Given the description of an element on the screen output the (x, y) to click on. 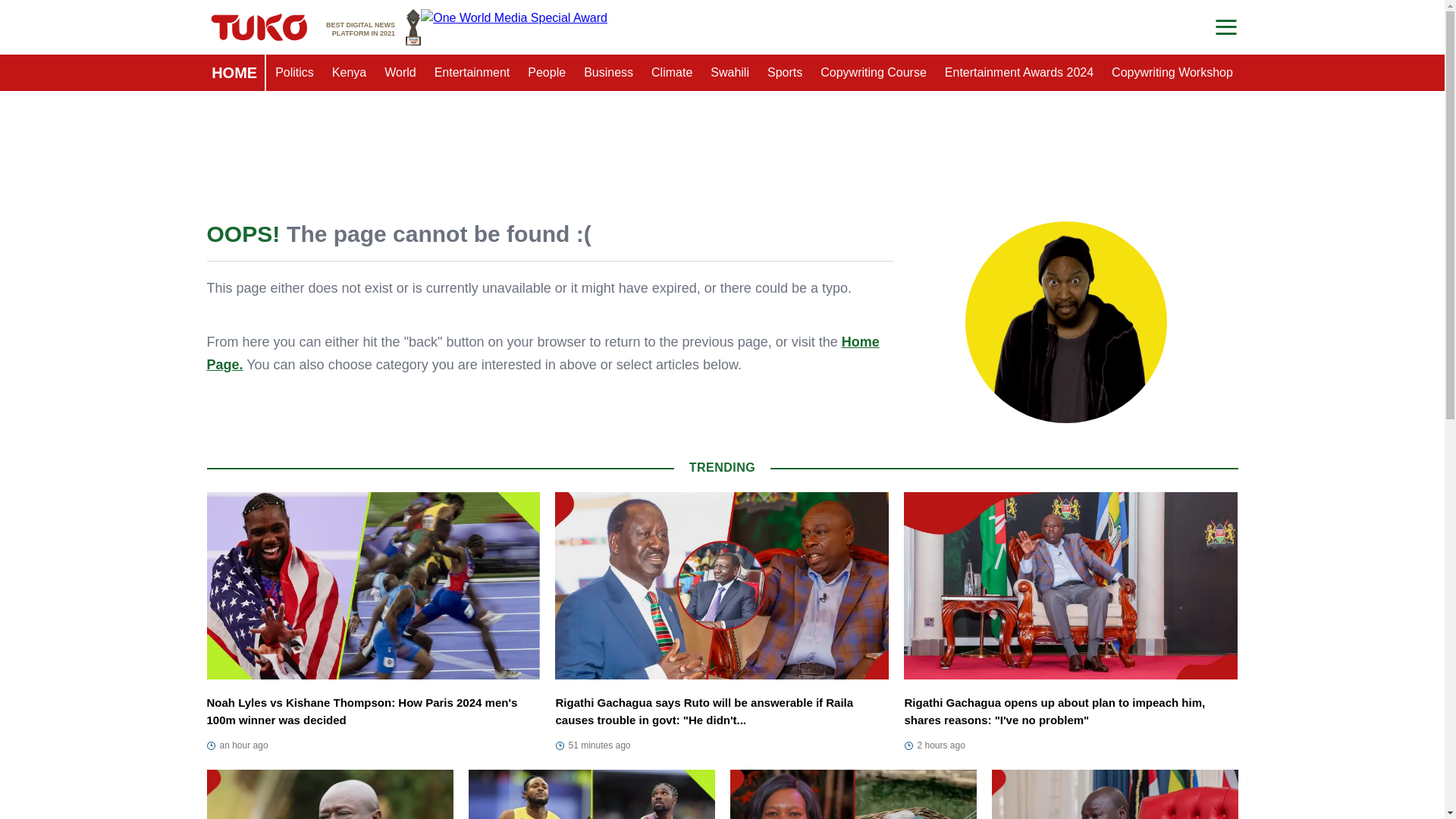
Copywriting Workshop (1171, 72)
World (400, 72)
Politics (294, 72)
Copywriting Course (873, 72)
HOME (234, 72)
People (546, 72)
Business (608, 72)
Climate (671, 72)
Sports (784, 72)
Entertainment Awards 2024 (373, 27)
Entertainment (1019, 72)
Swahili (472, 72)
Kenya (729, 72)
